Given the description of an element on the screen output the (x, y) to click on. 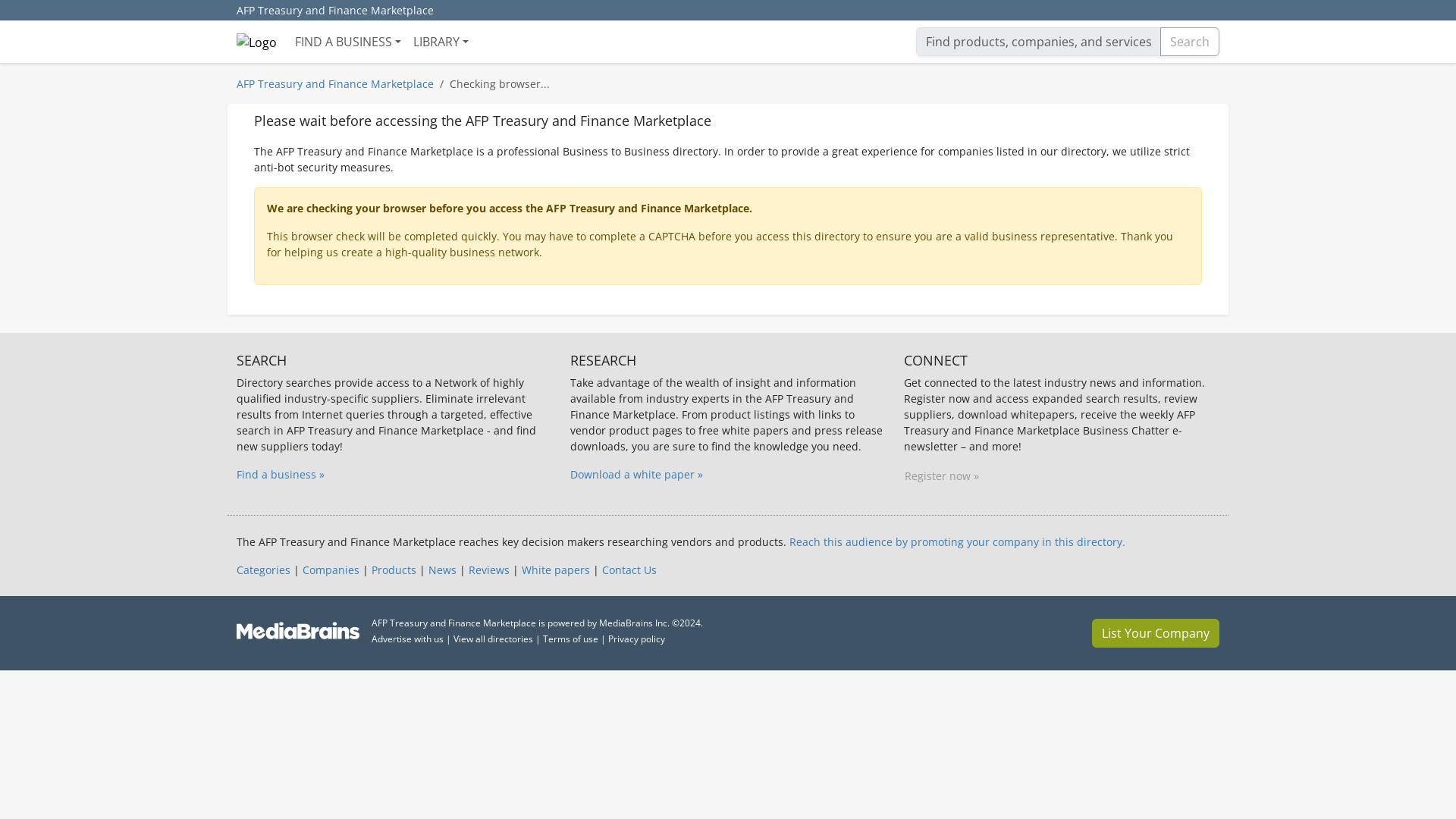
AFP Treasury and Finance Marketplace (334, 83)
AFP Treasury and Finance Marketplace (334, 10)
Categories (262, 569)
Products (393, 569)
Advertise with us (407, 638)
Privacy policy (636, 638)
Terms of use (570, 638)
View all directories (492, 638)
White papers (555, 569)
